Given the description of an element on the screen output the (x, y) to click on. 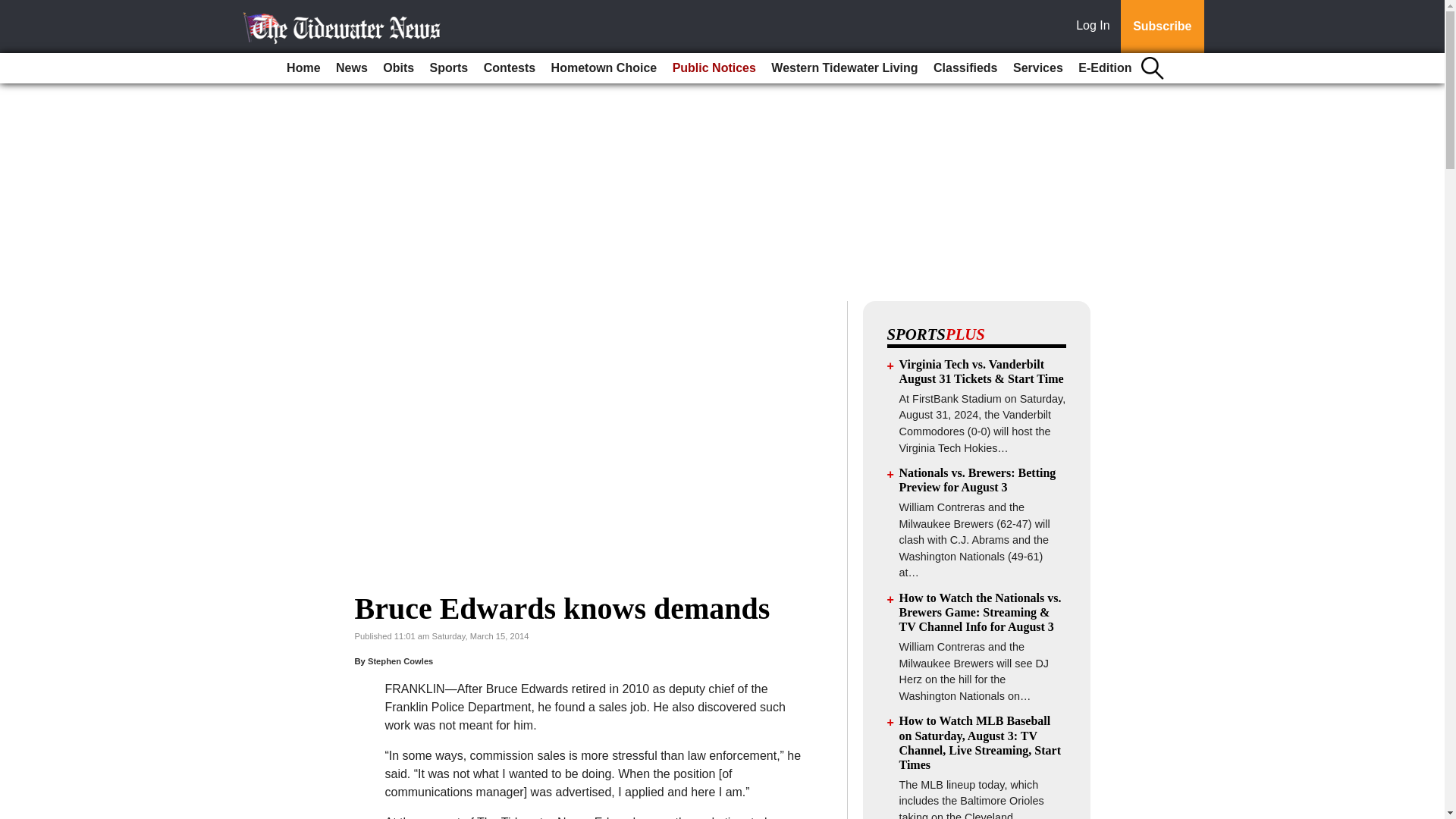
Home (303, 68)
Public Notices (713, 68)
Go (13, 9)
Contests (509, 68)
Sports (448, 68)
Services (1037, 68)
Obits (398, 68)
News (352, 68)
Western Tidewater Living (844, 68)
Subscribe (1162, 26)
E-Edition (1104, 68)
Stephen Cowles (400, 660)
Classifieds (965, 68)
Log In (1095, 26)
Hometown Choice (603, 68)
